Given the description of an element on the screen output the (x, y) to click on. 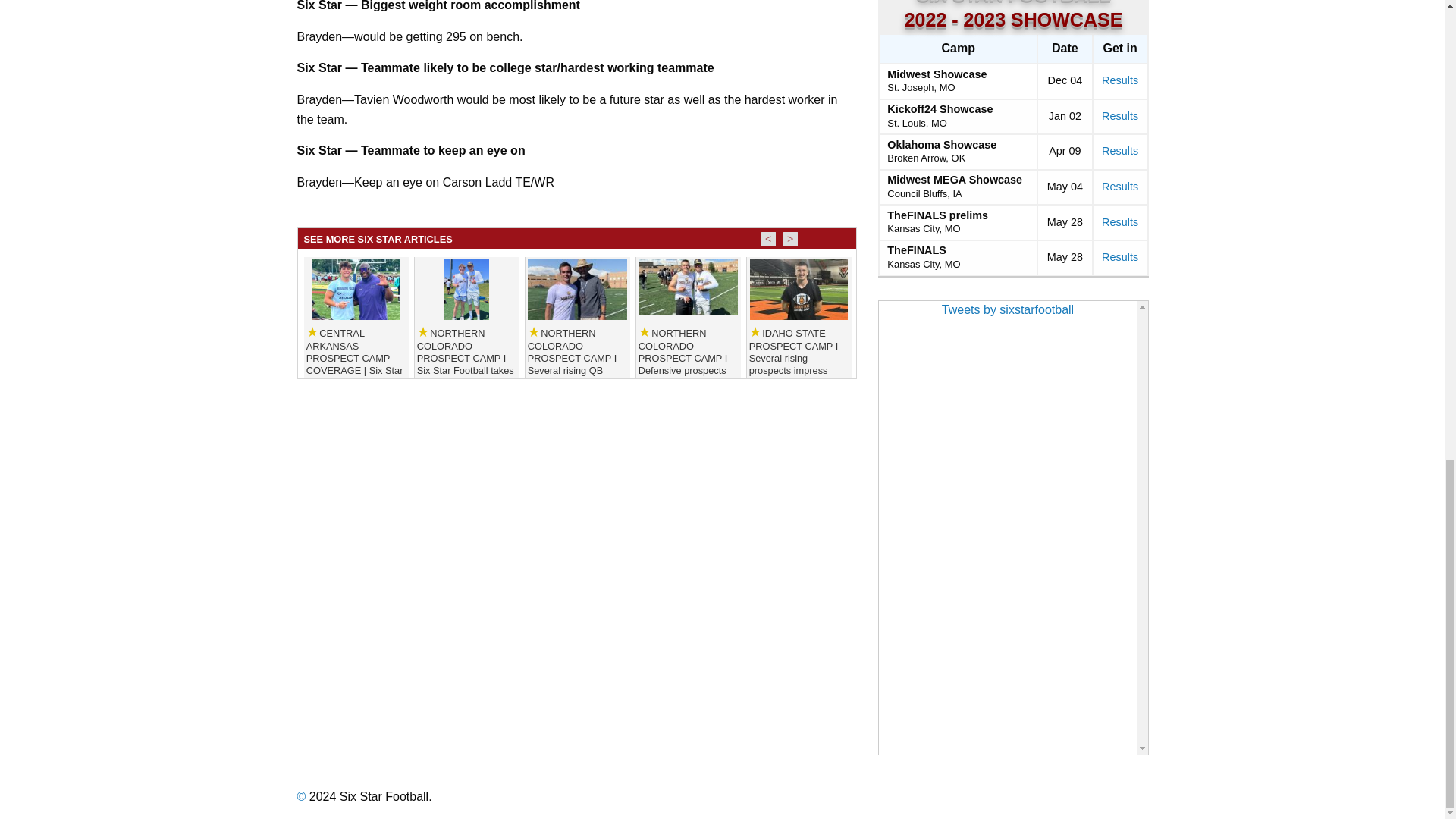
Results (1120, 186)
Results (1120, 115)
Results (1120, 80)
Results (1120, 150)
